Given the description of an element on the screen output the (x, y) to click on. 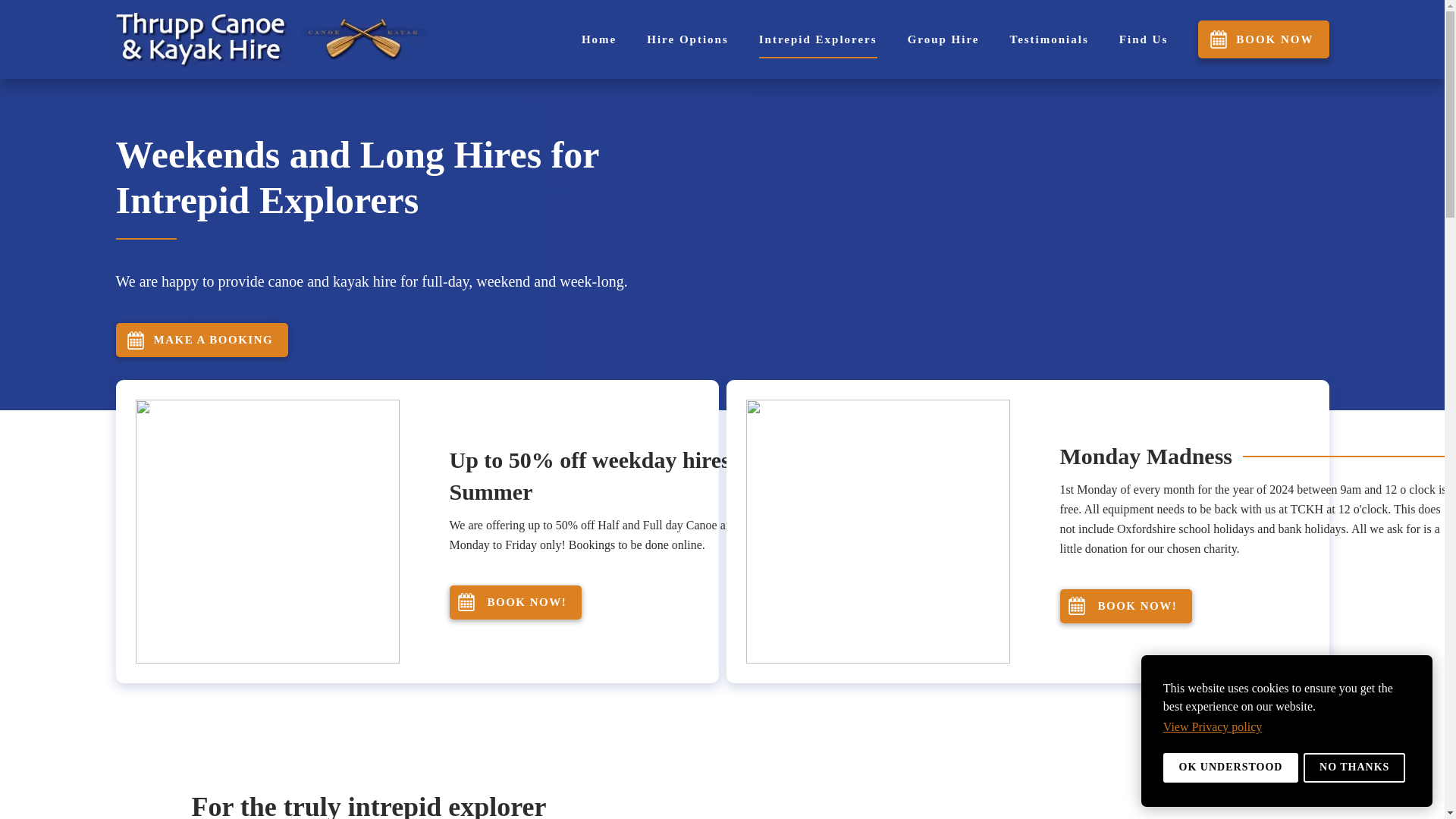
Weekends and Long Hires for Intrepid Explorers (418, 176)
MAKE A BOOKING (418, 339)
NO THANKS (1354, 767)
For the truly intrepid explorer (477, 804)
Intrepid Explorers (817, 39)
Group Hire (943, 39)
BOOK NOW (1262, 39)
BOOK NOW! (514, 602)
Find Us (1143, 39)
View Privacy policy (1214, 726)
Hire Options (687, 39)
MAKE A BOOKING (201, 339)
Home (597, 39)
Testimonials (1049, 39)
OK UNDERSTOOD (1230, 767)
